Given the description of an element on the screen output the (x, y) to click on. 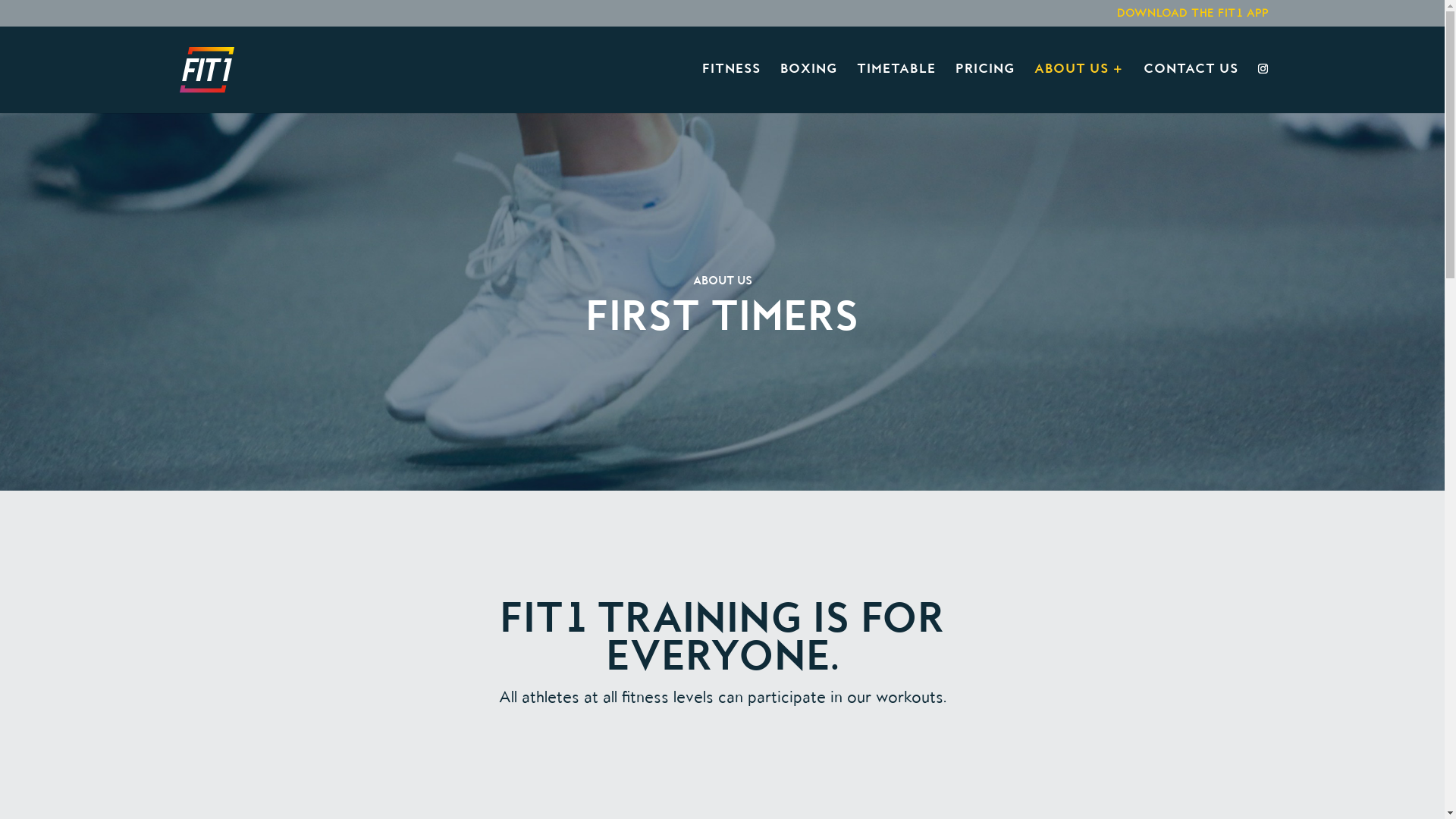
ABOUT US Element type: text (1078, 88)
FITNESS Element type: text (731, 88)
TIMETABLE Element type: text (895, 88)
PRICING Element type: text (984, 88)
CONTACT US Element type: text (1190, 88)
DOWNLOAD THE FIT1 APP Element type: text (1191, 17)
BOXING Element type: text (807, 88)
